Given the description of an element on the screen output the (x, y) to click on. 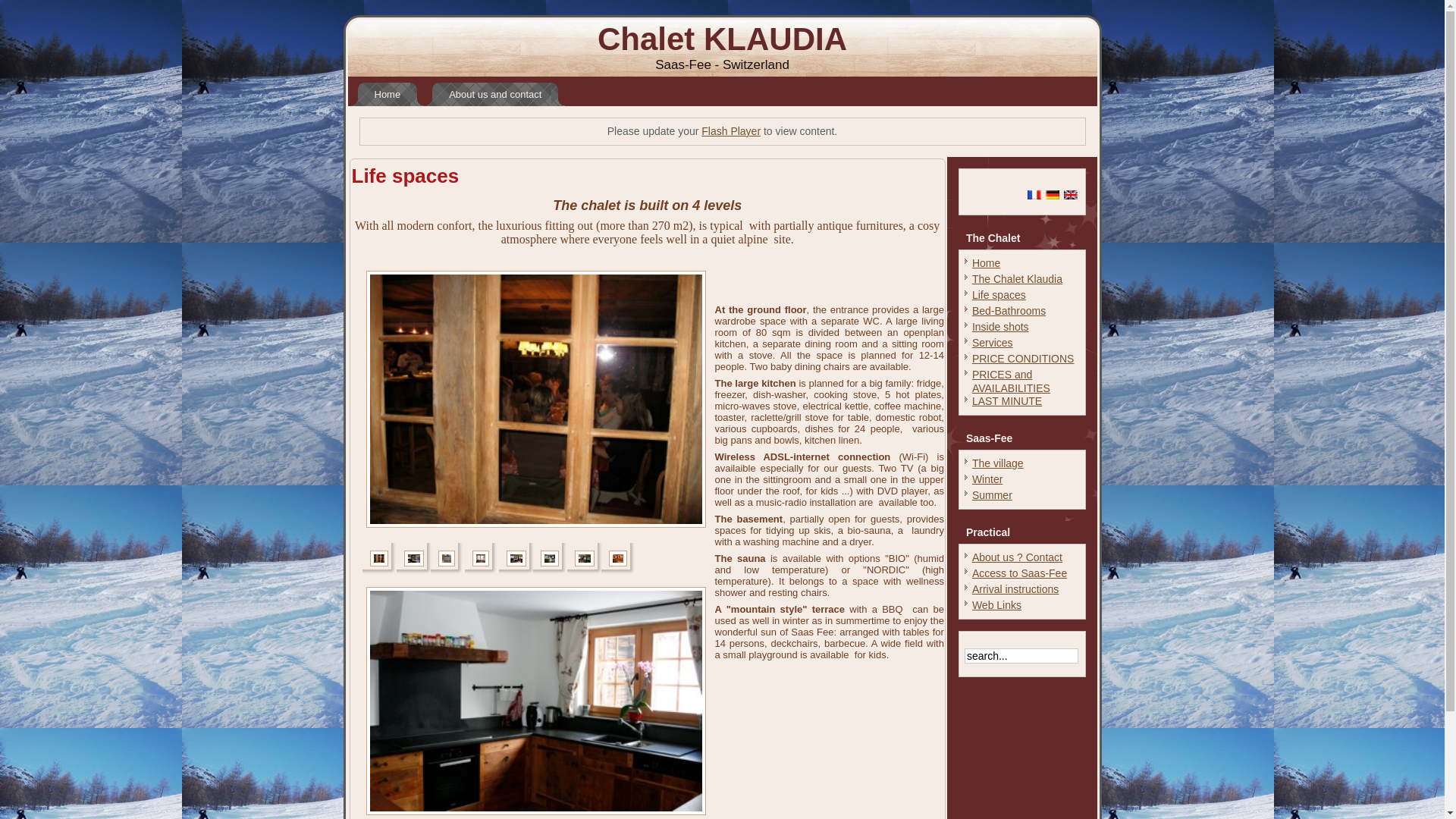
_mg_5776 Element type: hover (535, 700)
img_2561 Element type: hover (535, 398)
Access to Saas-Fee Element type: text (1019, 573)
Services Element type: text (992, 342)
_mg_5781 Element type: hover (515, 558)
22122007092 Element type: hover (616, 558)
22122007117 Element type: hover (548, 558)
Summer Element type: text (992, 495)
Deutsch (DE-CH-AT) Element type: hover (1052, 194)
_mg_5782 Element type: hover (479, 558)
poele Element type: hover (446, 558)
LAST MINUTE Element type: text (1006, 401)
_mg_5780 Element type: hover (584, 558)
Bed-Bathrooms Element type: text (1008, 310)
Home Element type: text (386, 94)
English (United Kingdom) Element type: hover (1070, 194)
About us ? Contact Element type: text (1017, 557)
About us and contact Element type: text (494, 94)
The Chalet Klaudia Element type: text (1017, 279)
PRICE CONDITIONS Element type: text (1023, 358)
Home Element type: text (986, 263)
Chalet KLAUDIA Element type: text (722, 38)
img_2561 Element type: hover (378, 558)
Web Links Element type: text (996, 605)
Flash Player Element type: text (730, 131)
Inside shots Element type: text (1000, 326)
PRICES and AVAILABILITIES Element type: text (1011, 381)
_mg_5779 Element type: hover (412, 558)
Arrival instructions Element type: text (1015, 589)
French (Fr) Element type: hover (1033, 194)
Life spaces Element type: text (999, 294)
Winter Element type: text (987, 479)
The village Element type: text (997, 463)
